Given the description of an element on the screen output the (x, y) to click on. 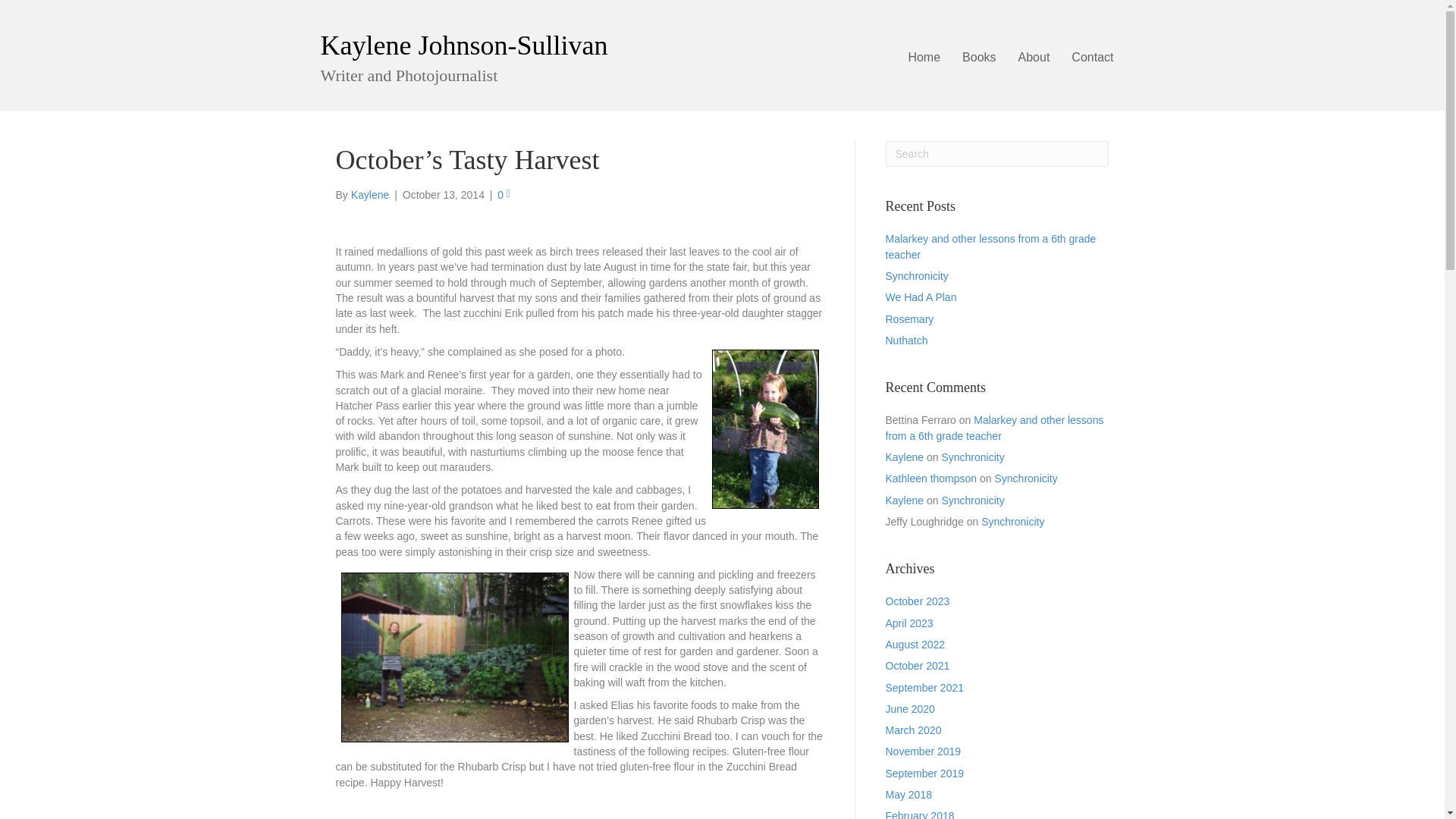
Synchronicity (1012, 521)
Type and press Enter to search. (997, 153)
Books (979, 57)
Synchronicity (972, 457)
Kathleen thompson (930, 478)
Kaylene (370, 194)
Malarkey and other lessons from a 6th grade teacher (990, 246)
0 (504, 194)
Kaylene Johnson-Sullivan (463, 45)
Synchronicity (917, 275)
